Given the description of an element on the screen output the (x, y) to click on. 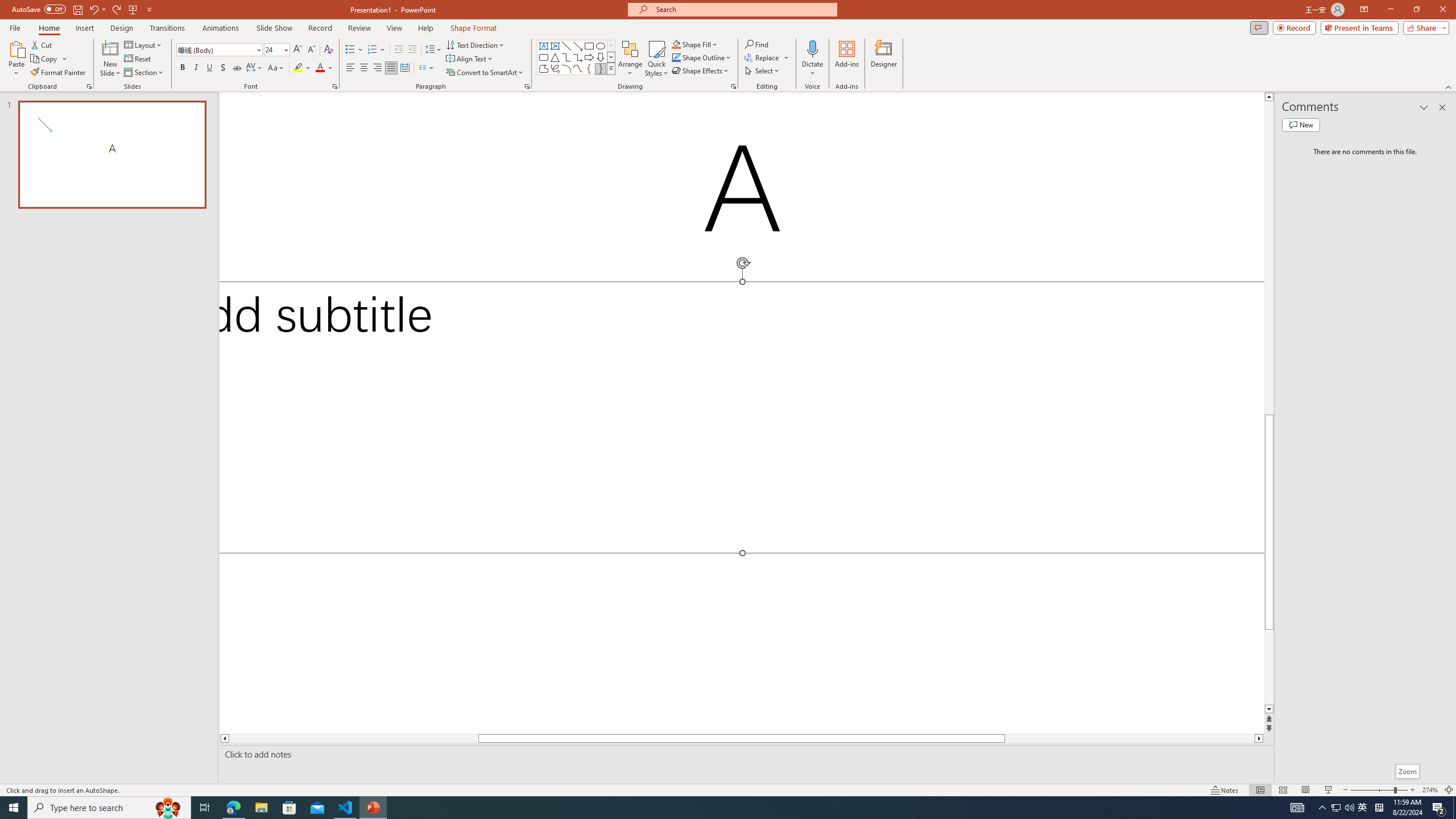
New comment (1300, 124)
Zoom 274% (1430, 790)
